Given the description of an element on the screen output the (x, y) to click on. 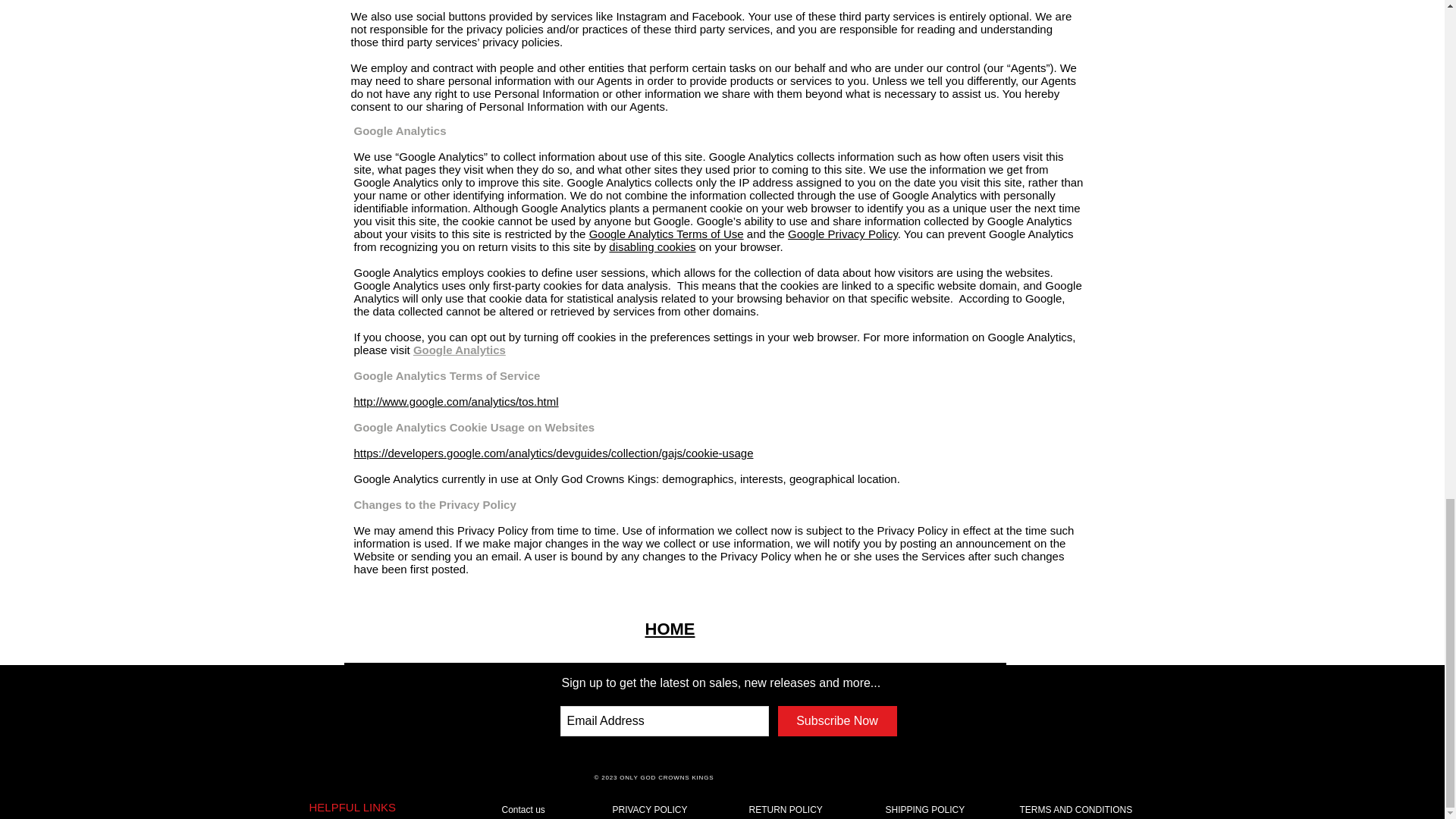
Google Privacy Policy (842, 233)
RETURN POLICY (785, 809)
HELPFUL LINKS (352, 807)
HOME (669, 628)
Google Analytics (459, 349)
PRIVACY POLICY (649, 809)
Google Analytics Terms of Use (666, 233)
disabling cookies (651, 246)
Contact us (523, 809)
TERMS AND CONDITIONS (1075, 809)
SHIPPING POLICY (925, 809)
Subscribe Now (836, 720)
